Given the description of an element on the screen output the (x, y) to click on. 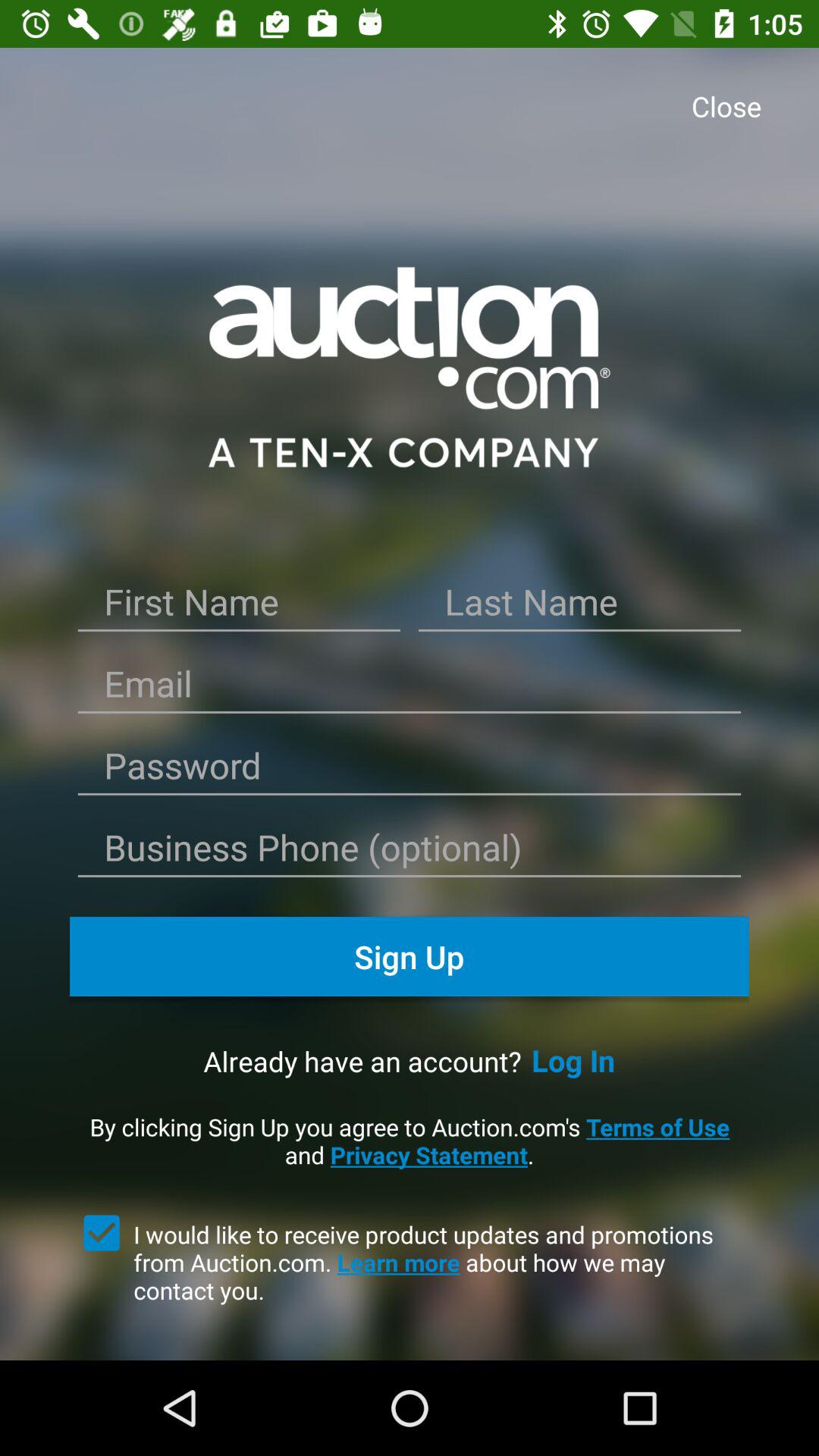
launch the icon below by clicking sign (101, 1232)
